Given the description of an element on the screen output the (x, y) to click on. 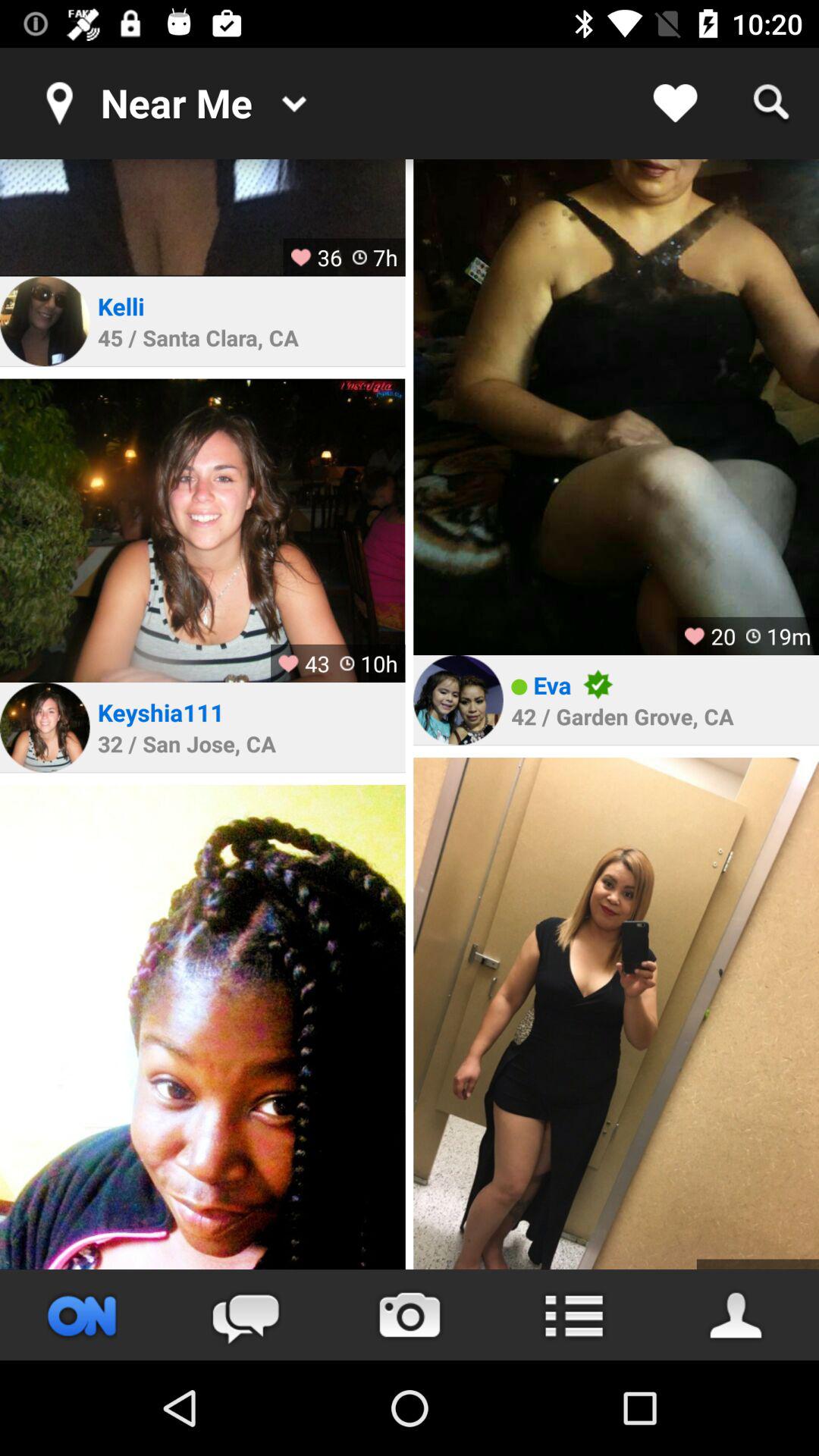
chat message (245, 1315)
